Given the description of an element on the screen output the (x, y) to click on. 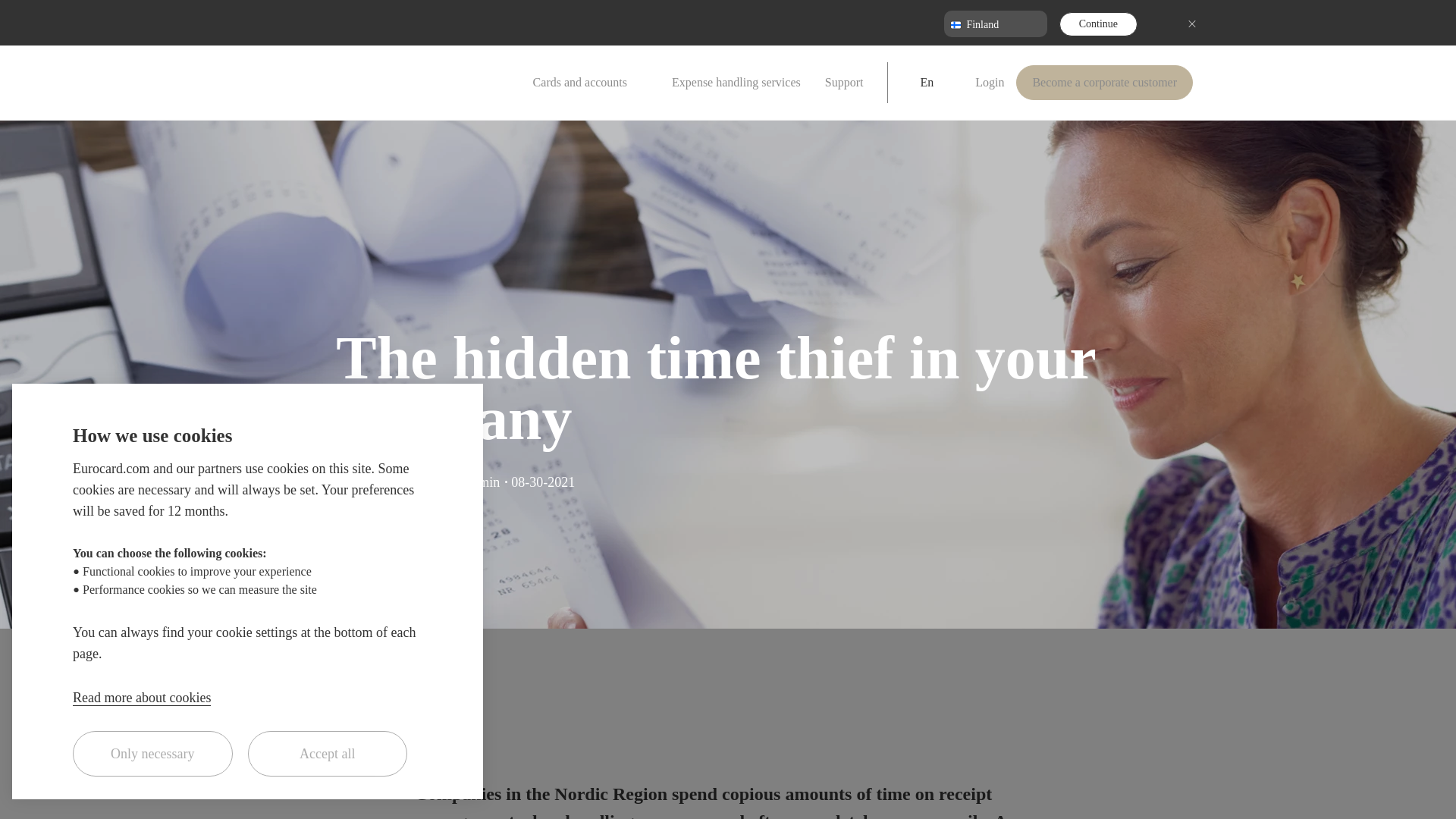
Cards and accounts (590, 82)
En (930, 82)
Support (844, 82)
Expense handling services (735, 82)
Continue (1098, 24)
